Given the description of an element on the screen output the (x, y) to click on. 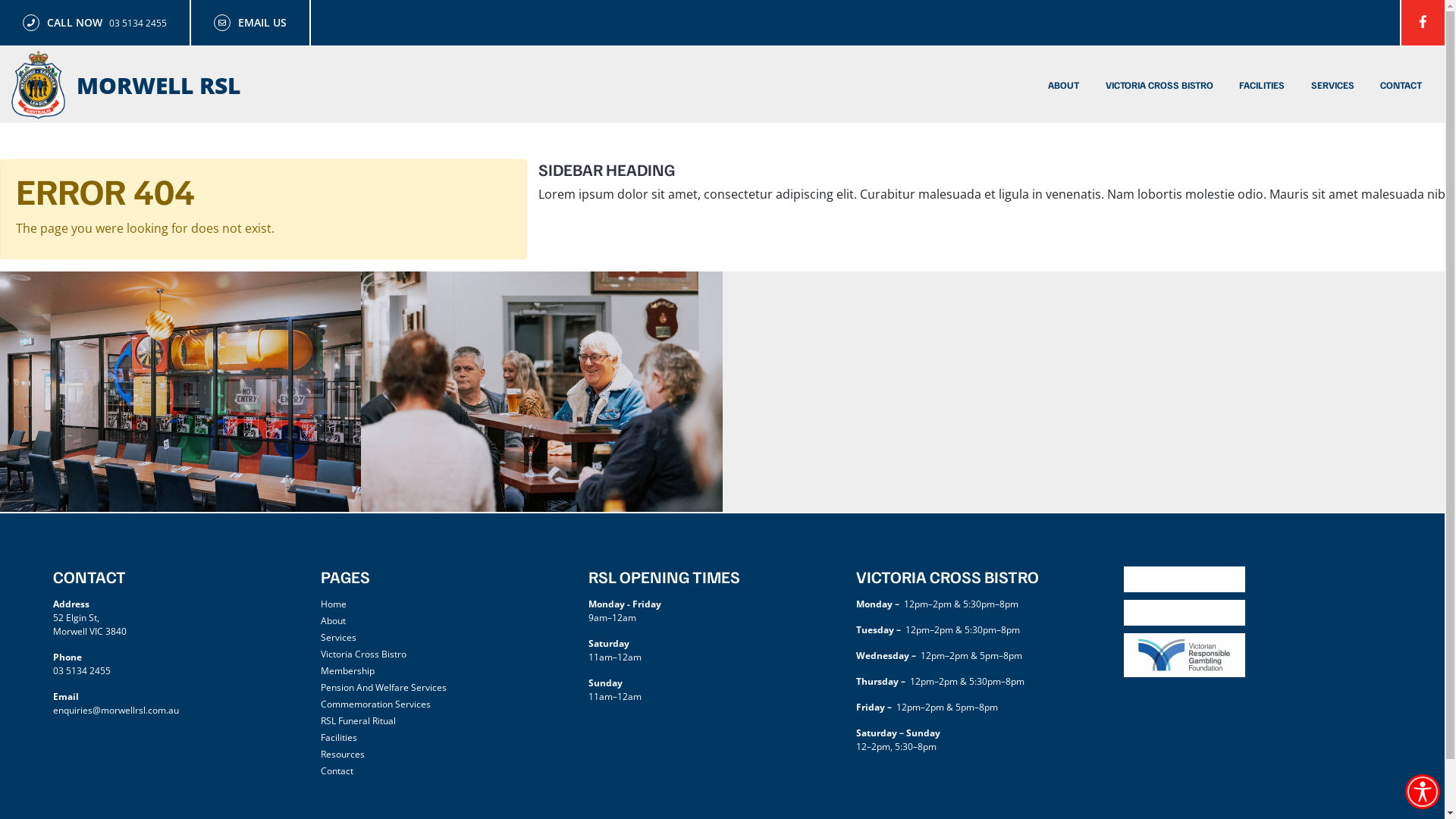
VICTORIA CROSS BISTRO Element type: text (1159, 84)
Contact Element type: text (336, 770)
Home Element type: text (333, 603)
Pension And Welfare Services Element type: text (383, 686)
Membership Element type: text (347, 670)
enquiries@morwellrsl.com.au Element type: text (186, 710)
Services Element type: text (338, 636)
RSL Funeral Ritual Element type: text (357, 720)
ABOUT Element type: text (1063, 84)
Victoria Cross Bistro Element type: text (363, 653)
Commemoration Services Element type: text (375, 703)
SERVICES Element type: text (1332, 84)
CONTACT Element type: text (1400, 84)
Resources Element type: text (342, 753)
About Element type: text (332, 620)
FACILITIES Element type: text (1261, 84)
Facilities Element type: text (338, 737)
